Given the description of an element on the screen output the (x, y) to click on. 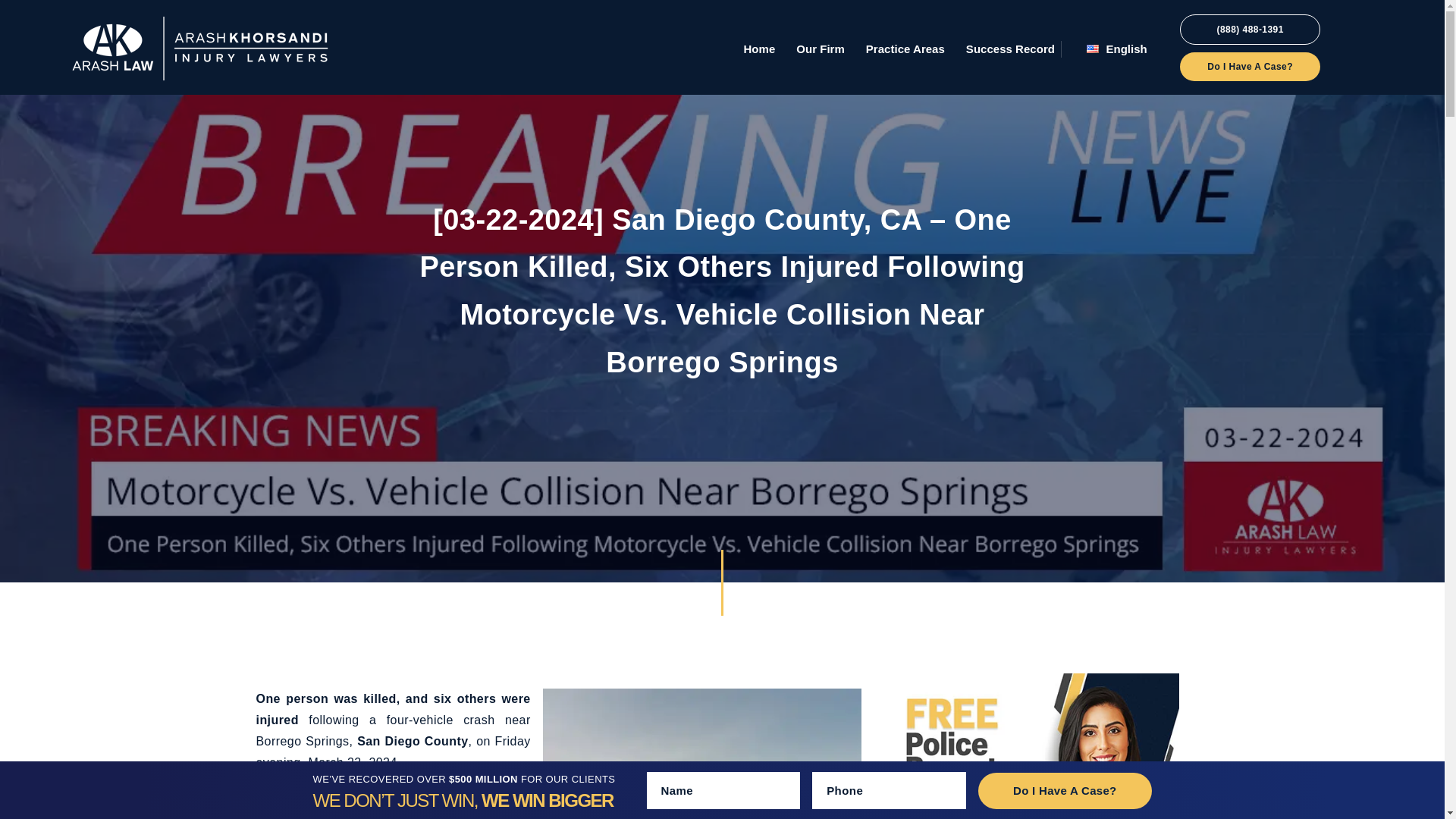
Home (758, 48)
Our Firm (820, 48)
